Given the description of an element on the screen output the (x, y) to click on. 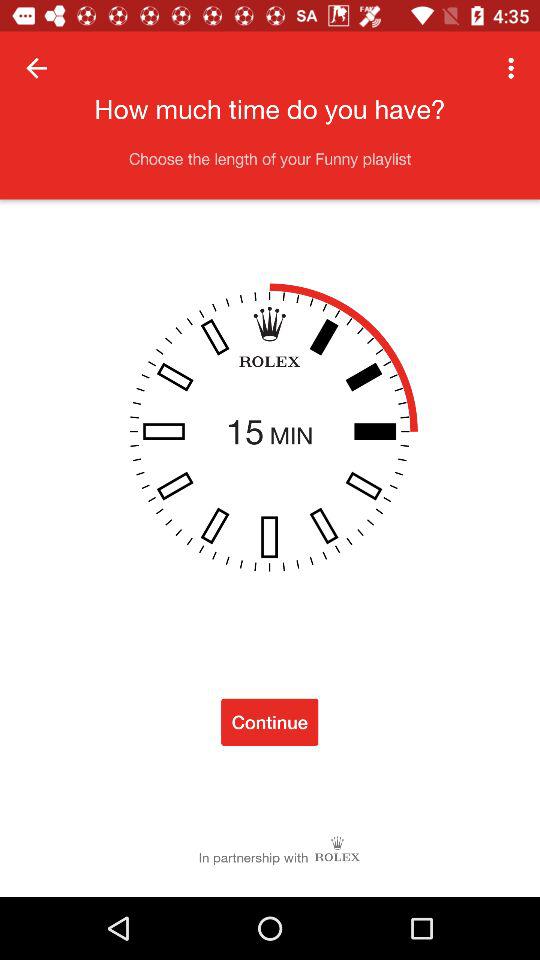
jump until continue item (269, 721)
